Given the description of an element on the screen output the (x, y) to click on. 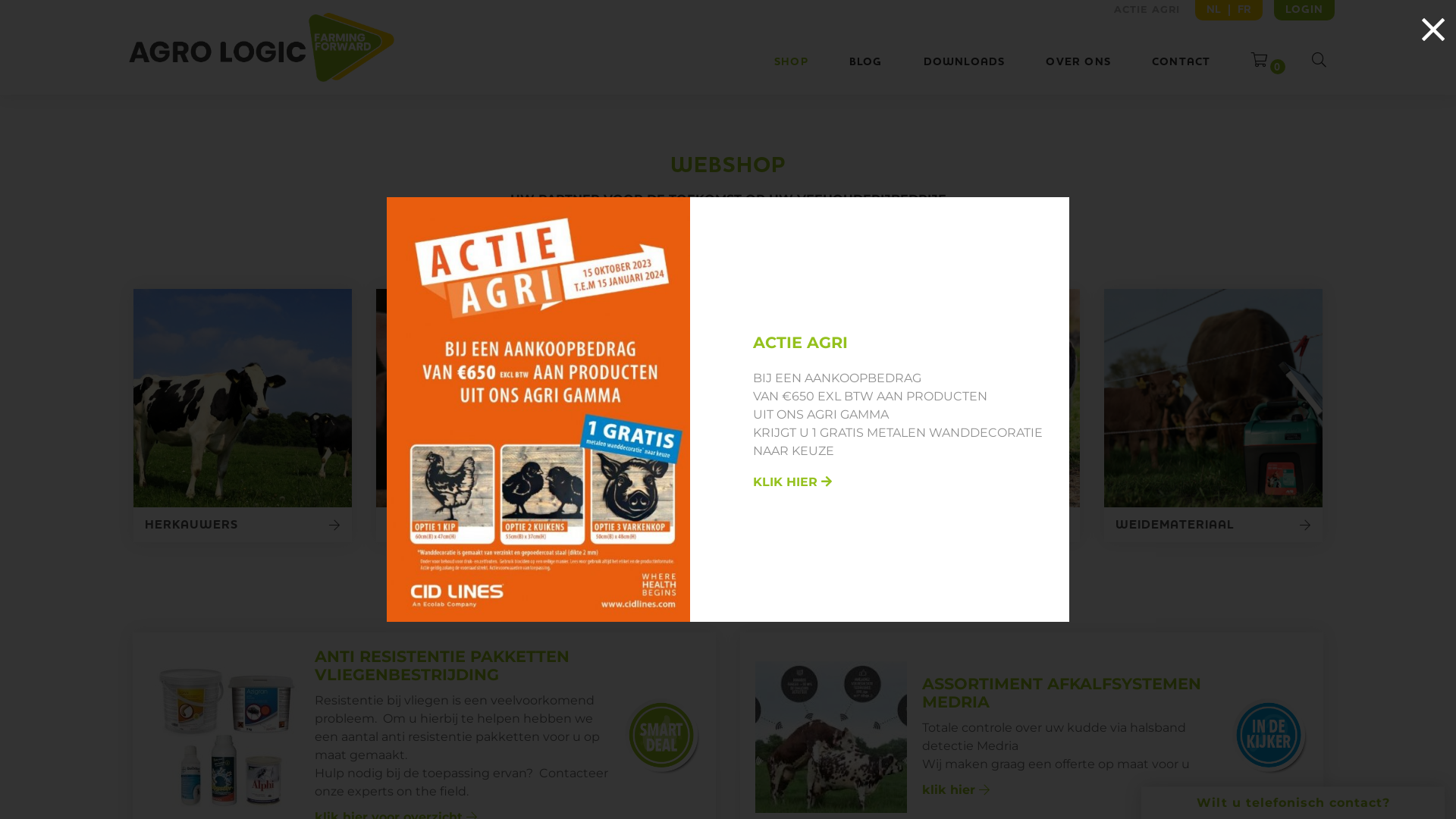
0 Element type: text (1262, 60)
SHOP Element type: text (791, 61)
LOGIN Element type: text (1304, 10)
NL Element type: text (1217, 9)
FR Element type: text (1240, 9)
KLIK HIER Element type: text (792, 481)
CONTACT Element type: text (1180, 61)
BLOG Element type: text (865, 61)
DOWNLOADS Element type: text (964, 61)
OVER ONS Element type: text (1077, 61)
klik hier Element type: text (955, 790)
